Given the description of an element on the screen output the (x, y) to click on. 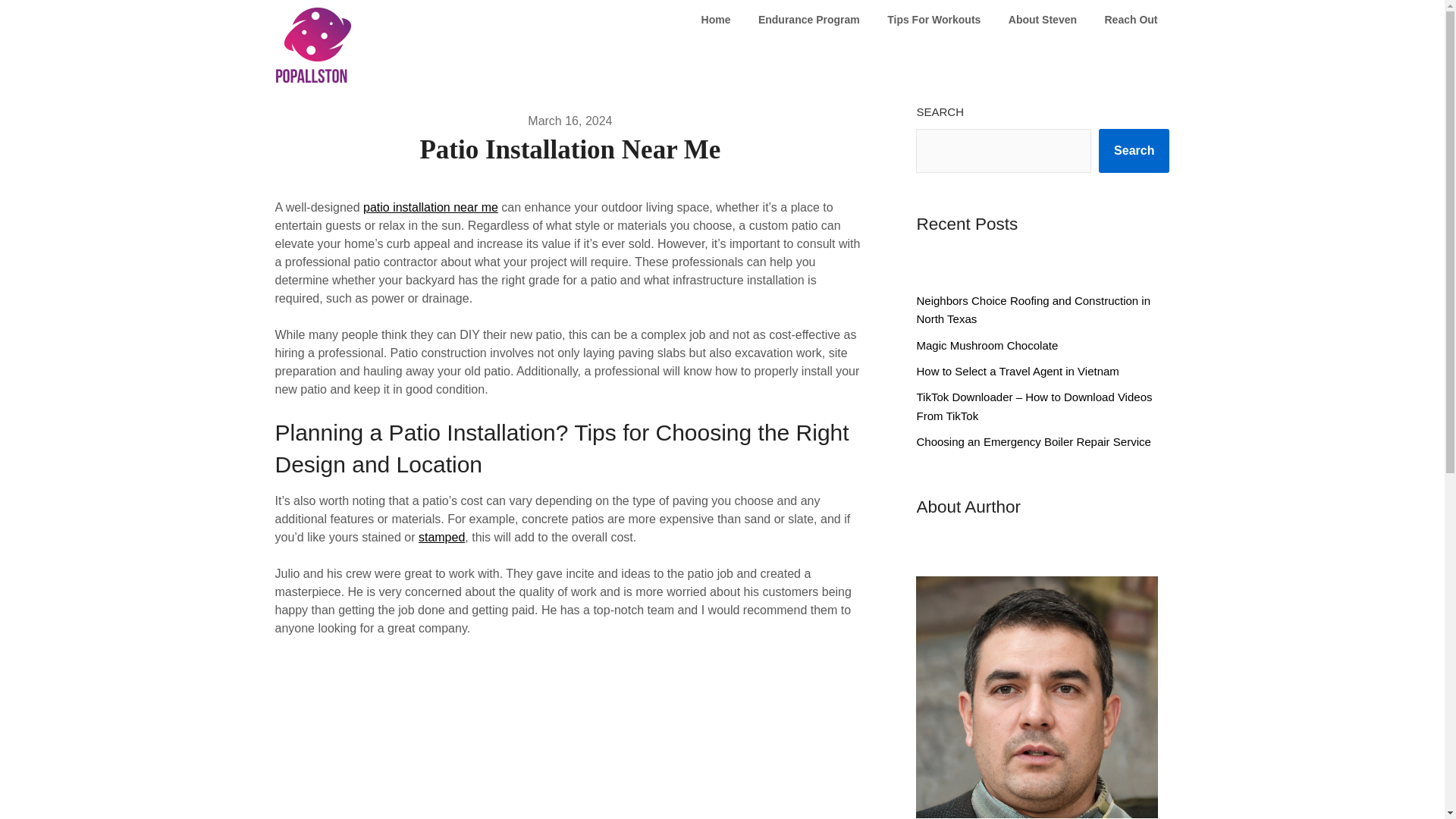
Magic Mushroom Chocolate (986, 345)
March 16, 2024 (569, 120)
Search (1134, 150)
Home (715, 20)
Neighbors Choice Roofing and Construction in North Texas (1032, 309)
Reach Out (1130, 20)
patio installation near me (429, 206)
Choosing an Emergency Boiler Repair Service (1032, 440)
Tips For Workouts (933, 20)
About Steven (1042, 20)
